Given the description of an element on the screen output the (x, y) to click on. 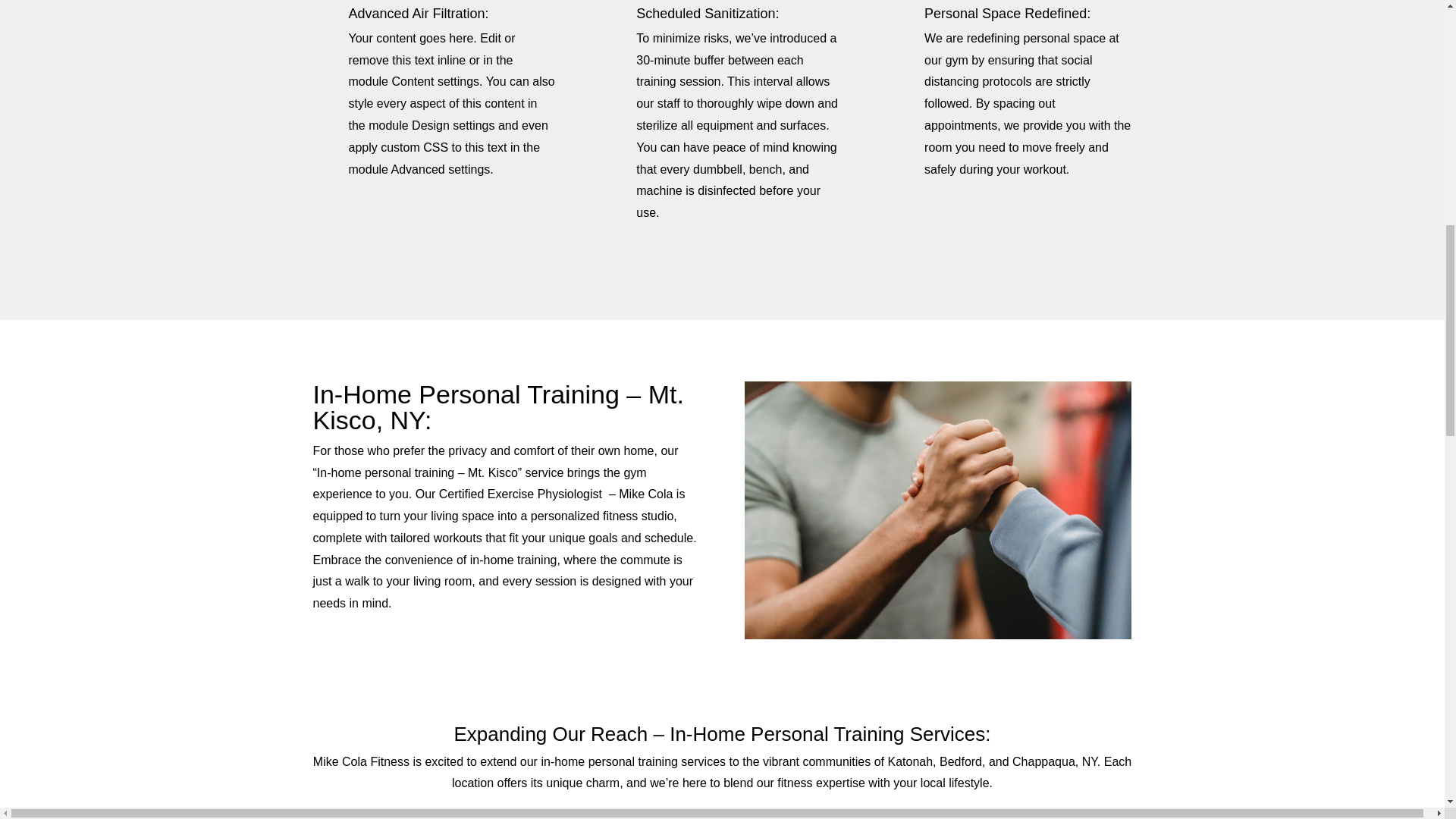
Mike Cola Fitness Gym in Mt. Kisco, NY (937, 510)
